Given the description of an element on the screen output the (x, y) to click on. 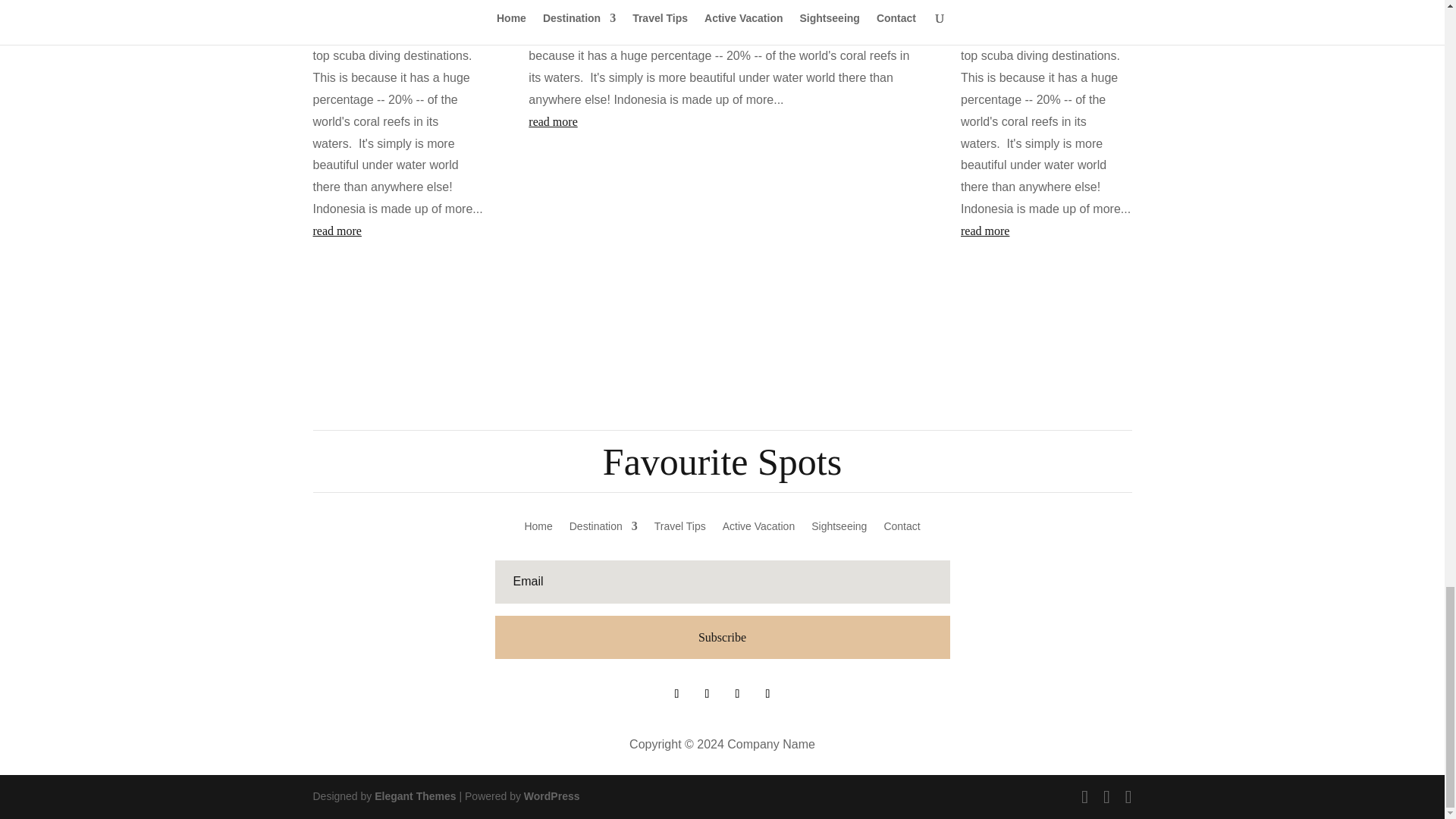
Follow on Pinterest (737, 693)
Follow on Facebook (675, 693)
Follow on Instagram (766, 693)
Follow on X (706, 693)
Premium WordPress Themes (414, 796)
read more (721, 122)
Home (537, 528)
read more (1045, 231)
read more (398, 231)
Destination (603, 528)
